Given the description of an element on the screen output the (x, y) to click on. 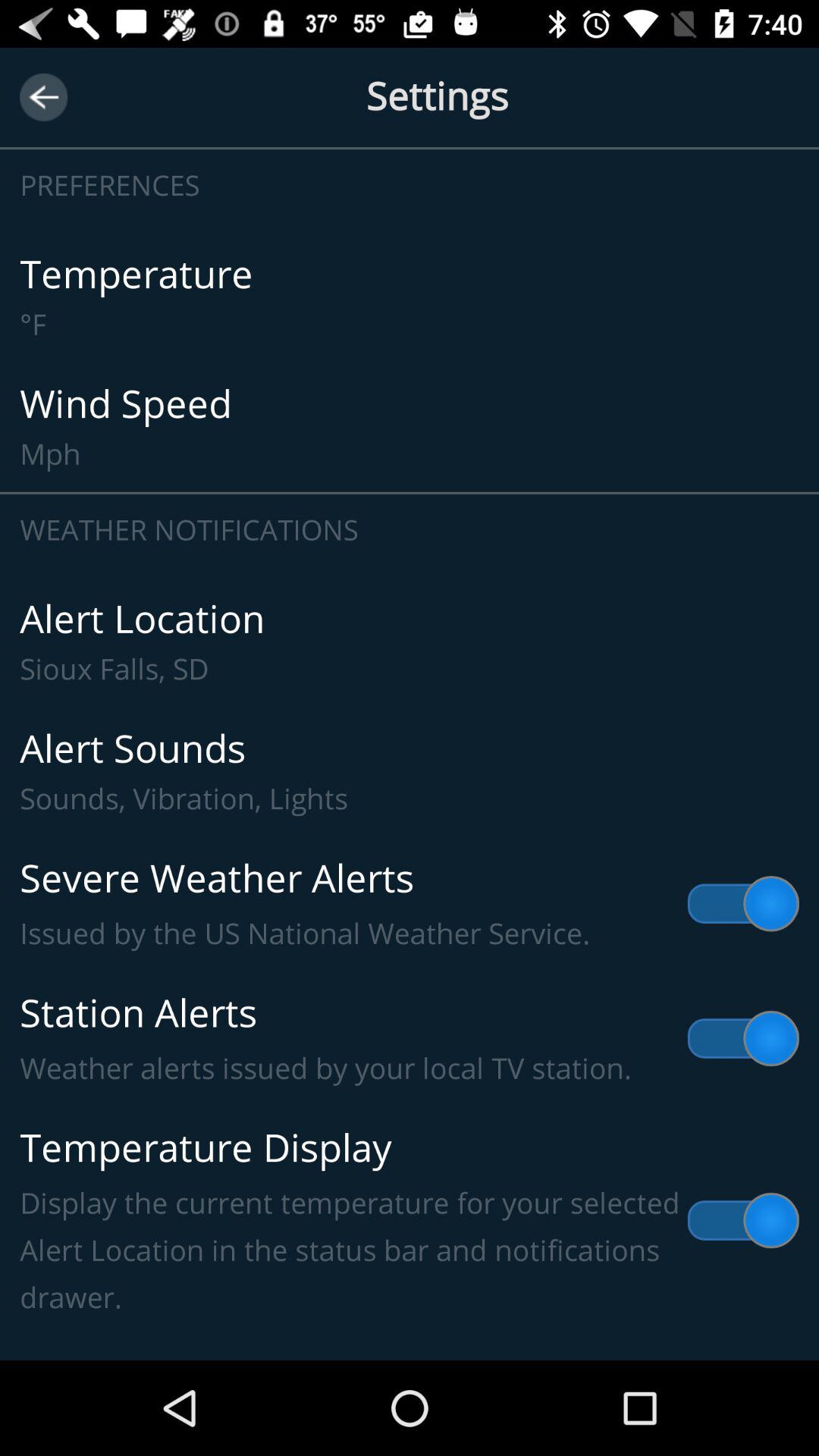
select item above the lock screen weather item (409, 1220)
